Given the description of an element on the screen output the (x, y) to click on. 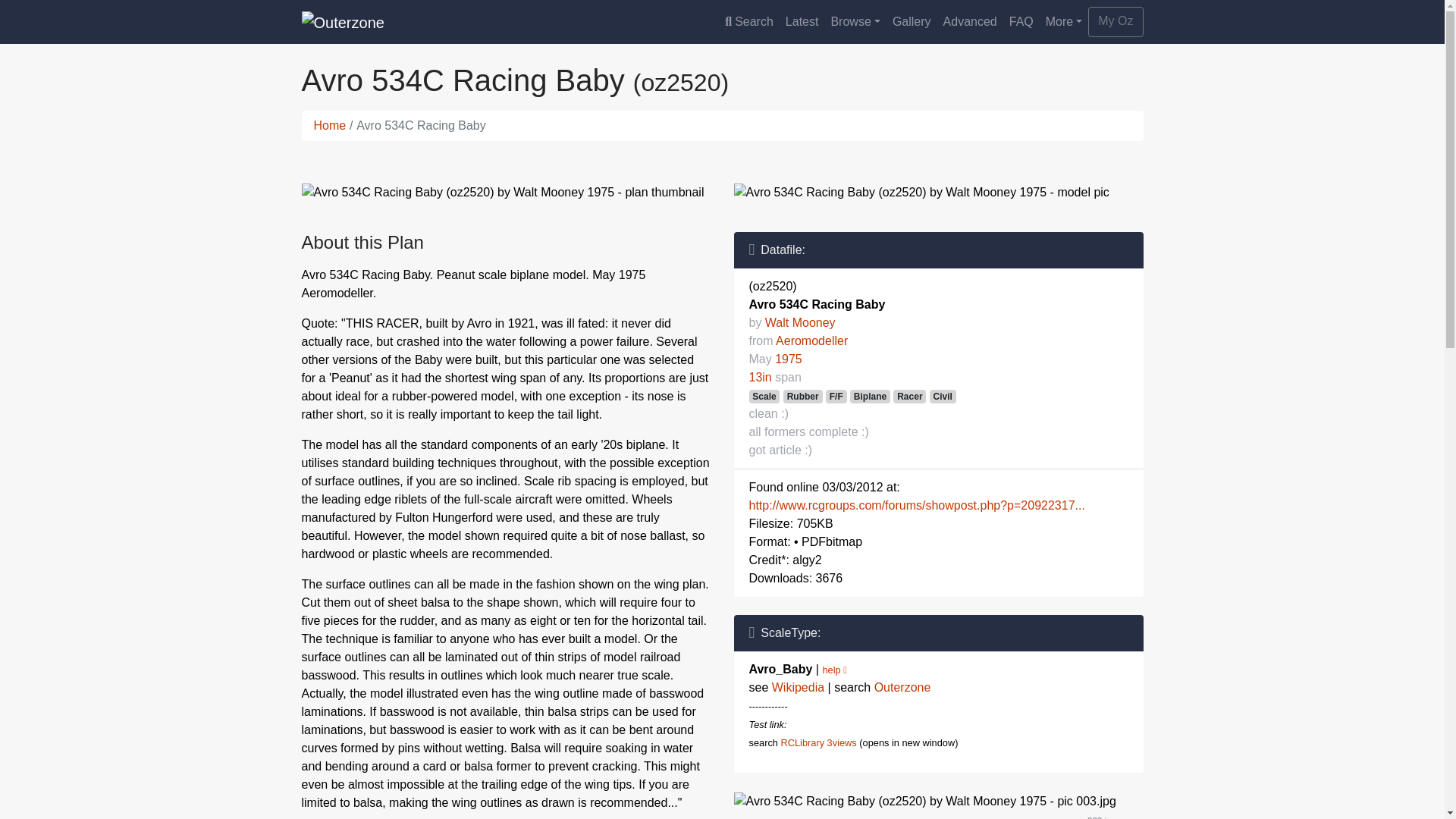
Wikipedia (797, 686)
RCLibrary 3views (818, 742)
13in (760, 377)
1975 (788, 358)
Search (748, 21)
Home (330, 124)
Outerzone (903, 686)
FAQ (1021, 21)
More (1064, 21)
My Oz (1114, 21)
